Given the description of an element on the screen output the (x, y) to click on. 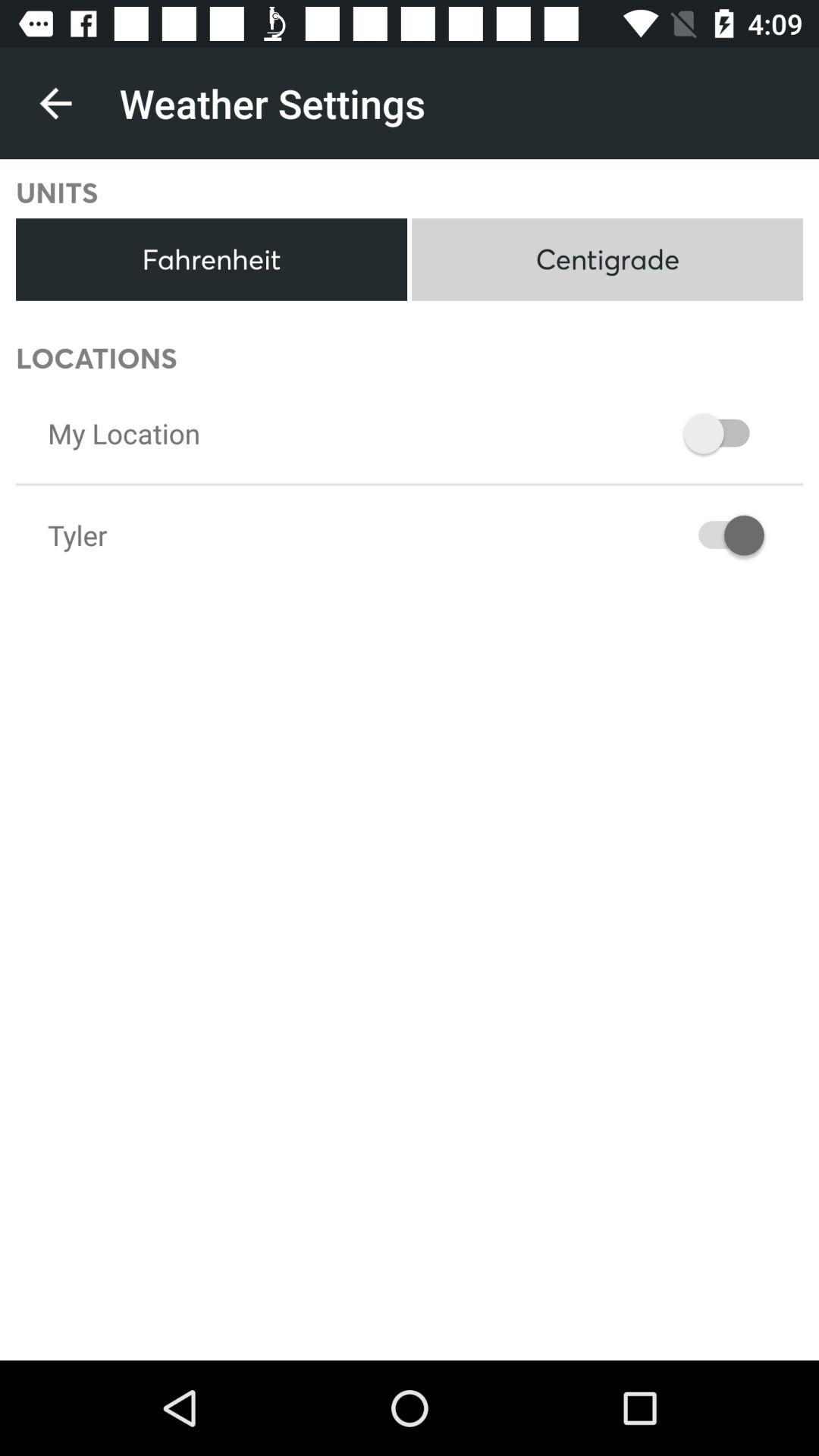
press my location (123, 433)
